Given the description of an element on the screen output the (x, y) to click on. 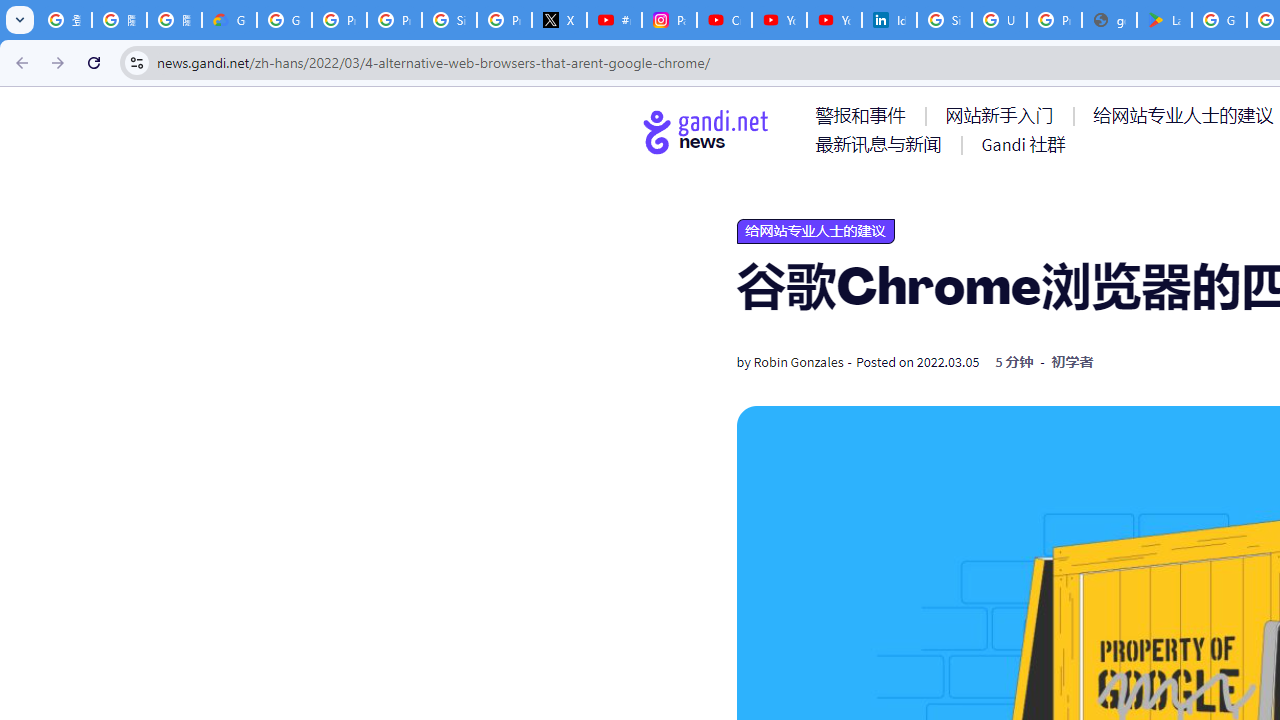
#nbabasketballhighlights - YouTube (614, 20)
Google Cloud Privacy Notice (229, 20)
Robin Gonzales (797, 362)
Privacy Help Center - Policies Help (394, 20)
google_privacy_policy_en.pdf (1108, 20)
YouTube Culture & Trends - YouTube Top 10, 2021 (833, 20)
